Given the description of an element on the screen output the (x, y) to click on. 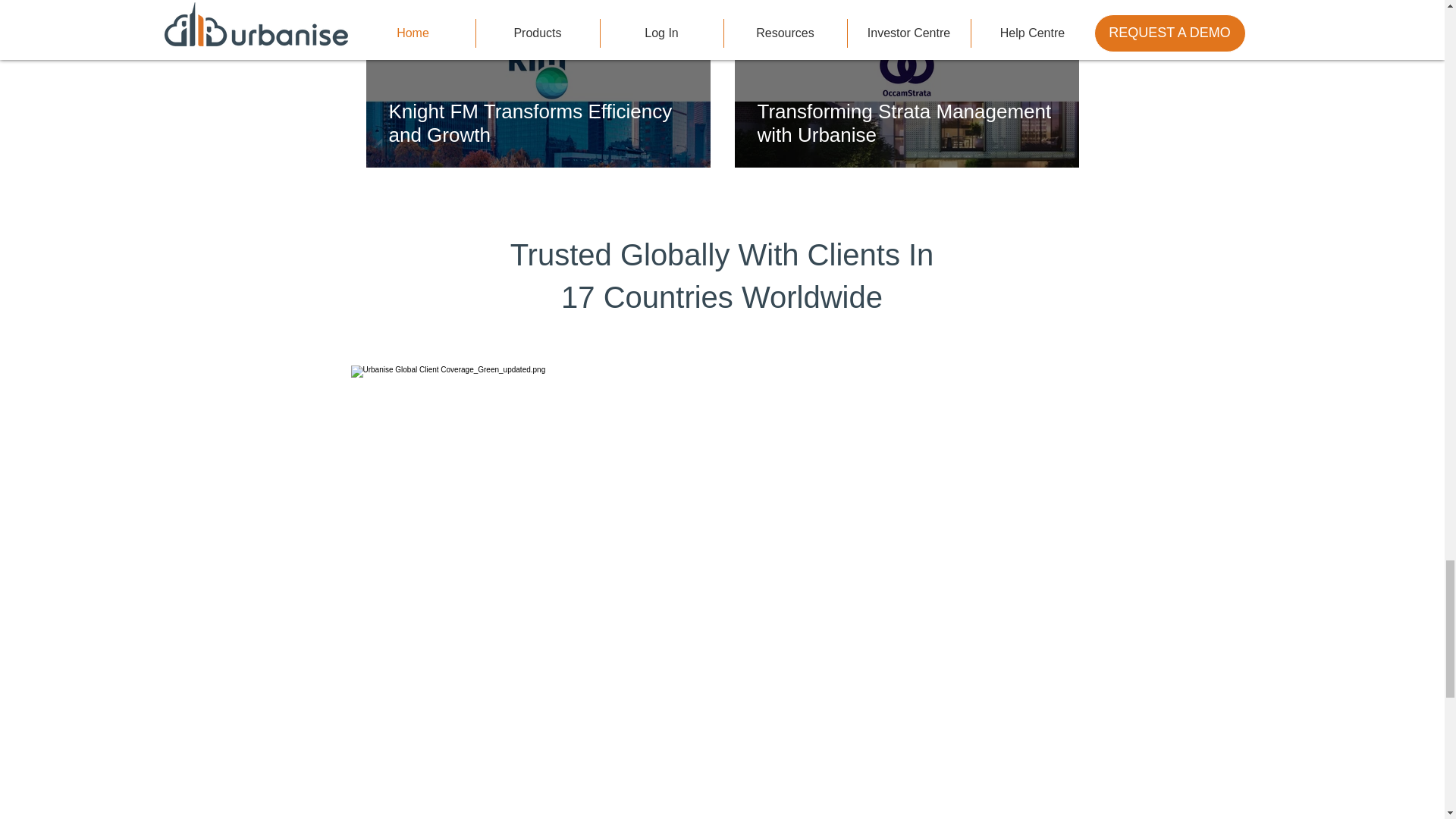
Transforming Strata Management with Urbanise (906, 123)
Jun 13 (770, 14)
Urbanise Team (418, 3)
Knight FM Transforms Efficiency and Growth (537, 123)
Urbanise Team (786, 3)
Jun 27 (401, 14)
